Given the description of an element on the screen output the (x, y) to click on. 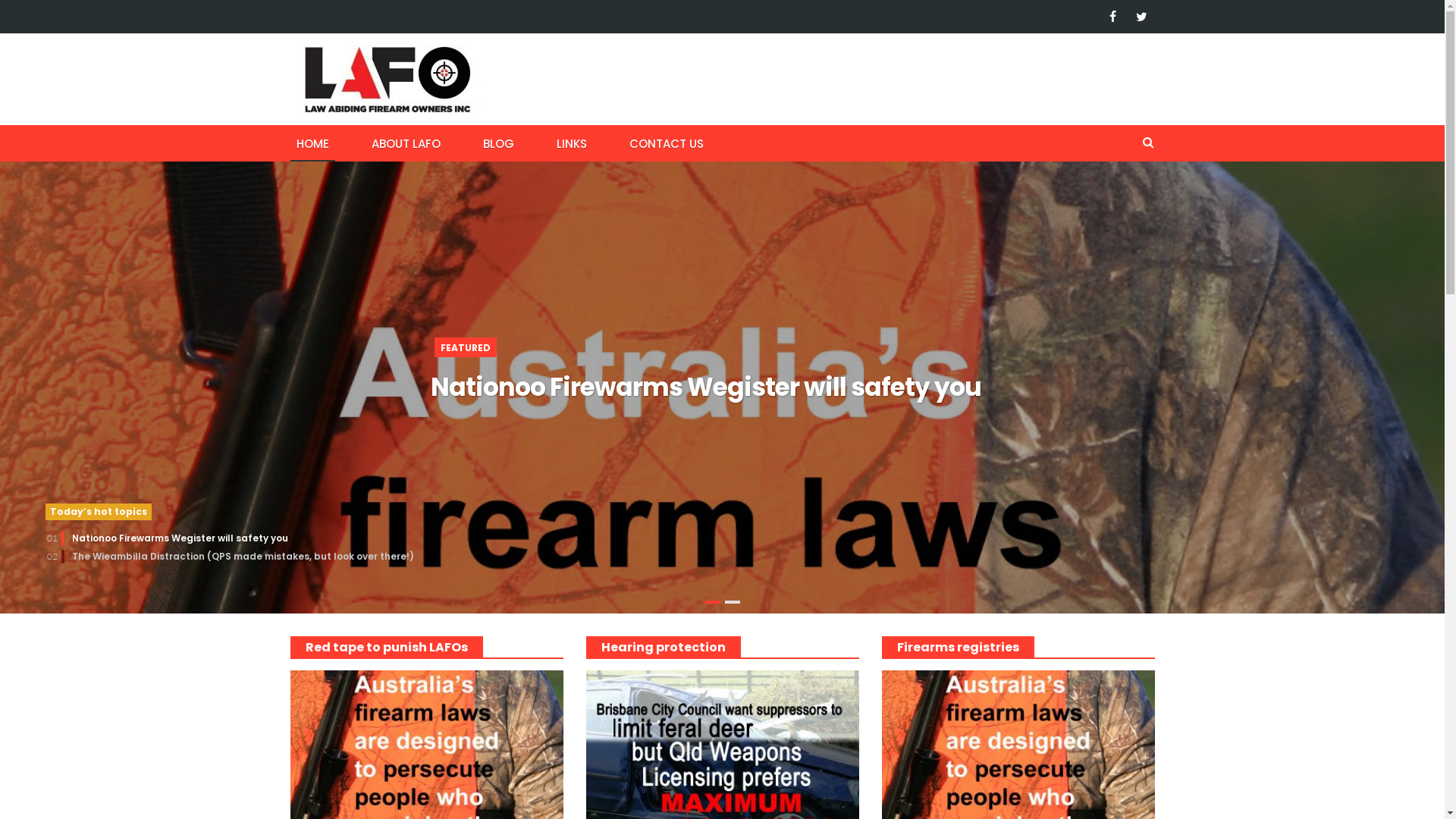
CONTACT US Element type: text (666, 142)
HOME Element type: text (311, 142)
BLOG Element type: text (497, 142)
LINKS Element type: text (571, 142)
Nationoo Firewarms Wegister will safety you Element type: text (180, 537)
Nationoo Firewarms Wegister will safety you Element type: text (722, 387)
ABOUT LAFO Element type: text (405, 142)
FEATURED Element type: text (464, 347)
